Given the description of an element on the screen output the (x, y) to click on. 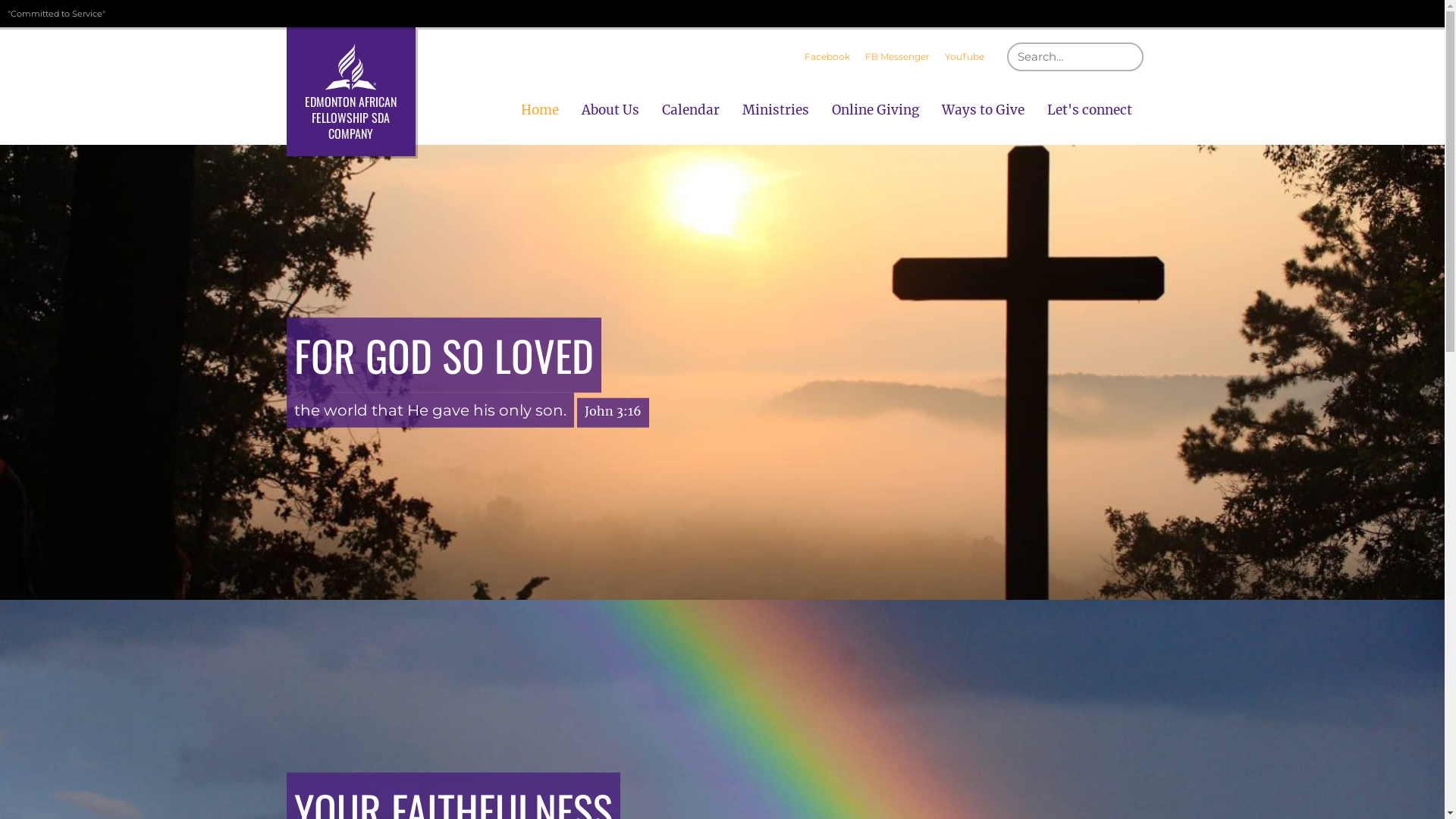
SUBMIT Element type: text (1143, 42)
EDMONTON AFRICAN FELLOWSHIP SDA COMPANY Element type: text (350, 91)
Calendar Element type: text (690, 109)
Online Giving Element type: text (875, 109)
Ways to Give Element type: text (982, 109)
About Us Element type: text (610, 109)
YouTube Element type: text (964, 56)
Facebook Element type: text (826, 56)
Ministries Element type: text (775, 109)
Home Element type: text (539, 109)
FB Messenger Element type: text (896, 56)
Let's connect Element type: text (1089, 109)
